Given the description of an element on the screen output the (x, y) to click on. 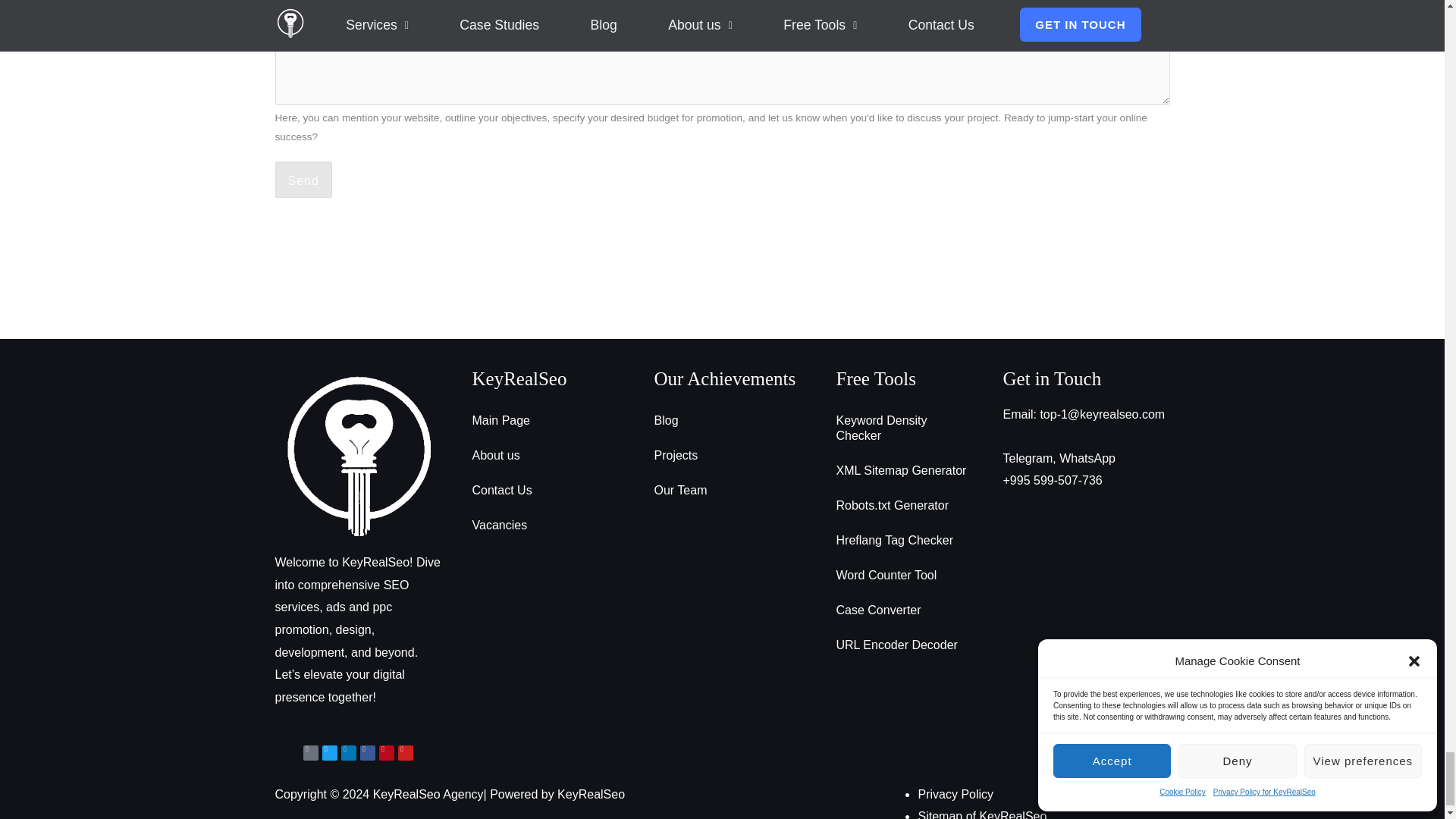
KeyRealSeo Website Pages (981, 814)
